Given the description of an element on the screen output the (x, y) to click on. 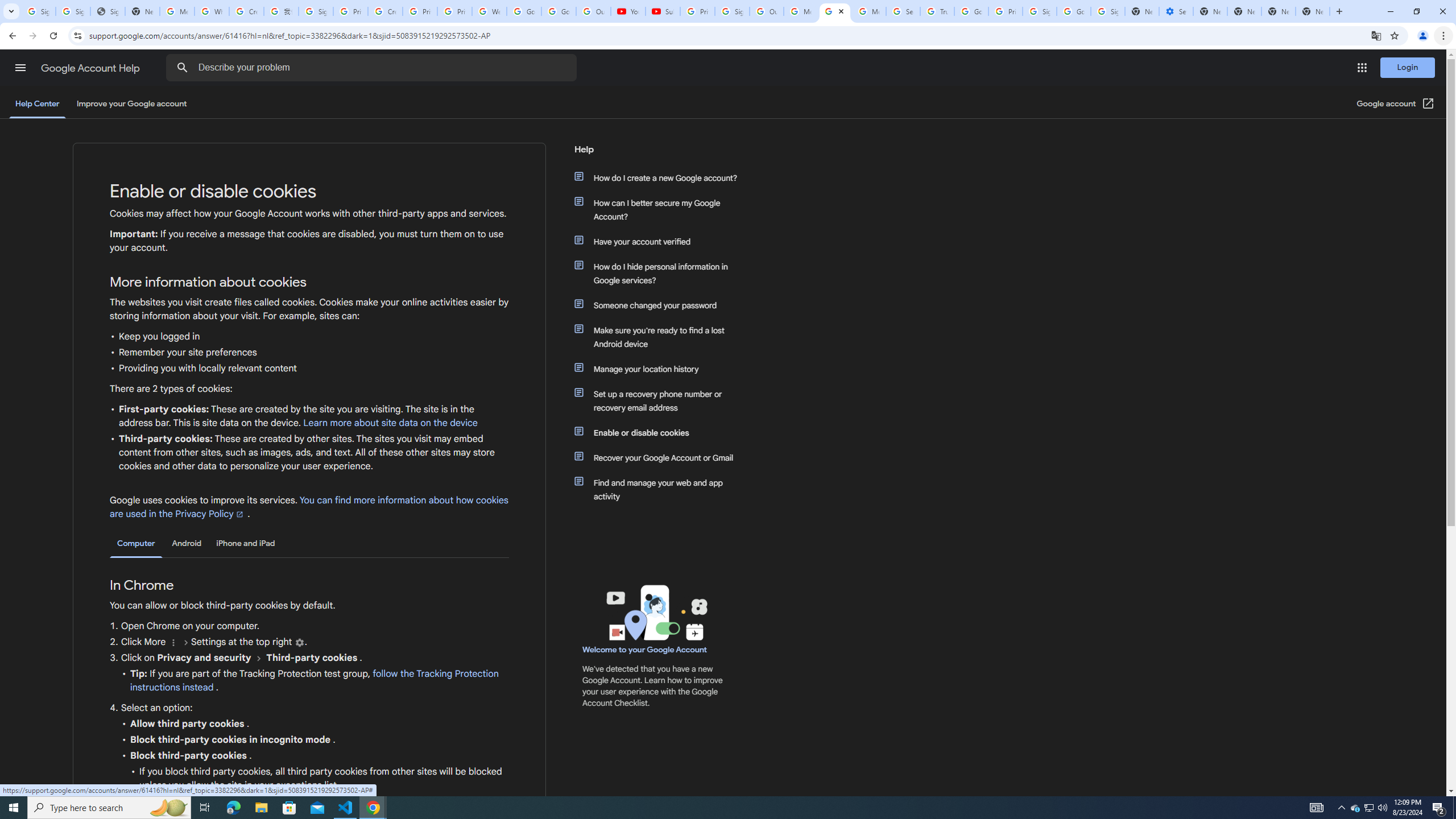
Sign in - Google Accounts (38, 11)
New Tab (1312, 11)
Describe your problem (373, 67)
follow the Tracking Protection instructions instead (314, 680)
Learning Center home page image (655, 612)
